Given the description of an element on the screen output the (x, y) to click on. 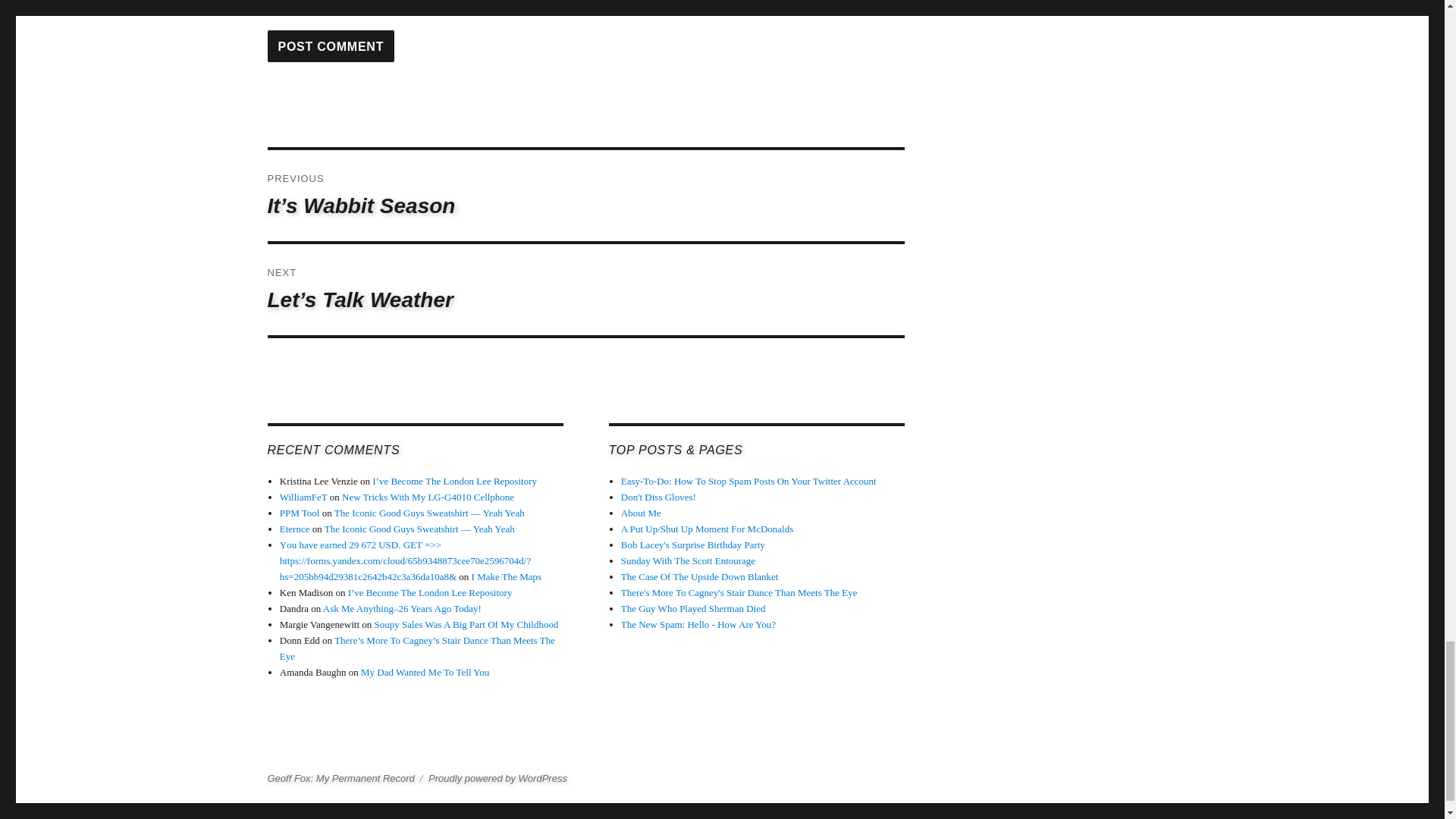
Post Comment (330, 46)
Eternce (294, 528)
PPM Tool (299, 512)
New Tricks With My LG-G4010 Cellphone (427, 496)
Post Comment (330, 46)
WilliamFeT (303, 496)
I Make The Maps (506, 576)
subscribe (271, 6)
